Given the description of an element on the screen output the (x, y) to click on. 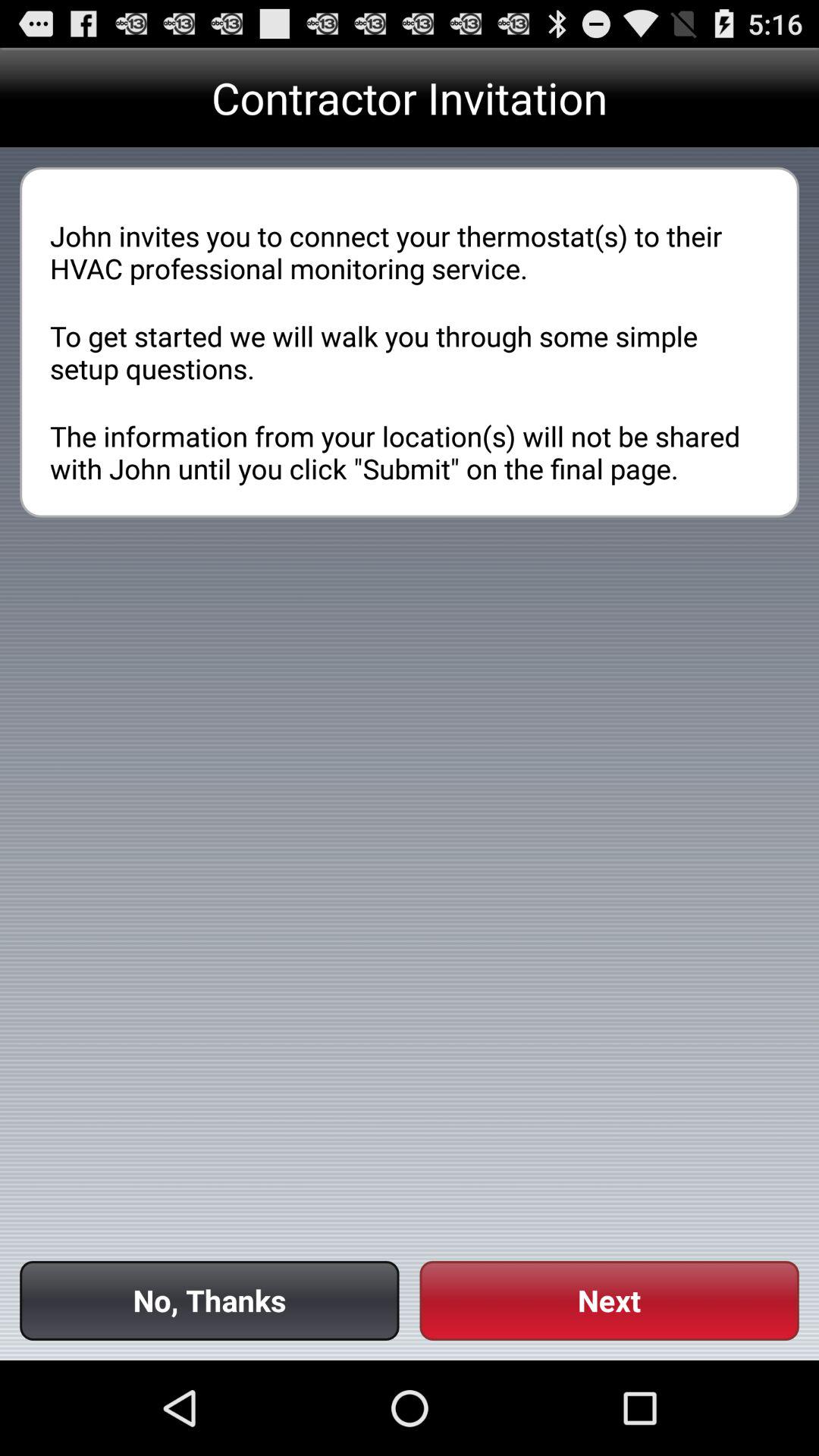
press the icon below the the information from item (209, 1300)
